Given the description of an element on the screen output the (x, y) to click on. 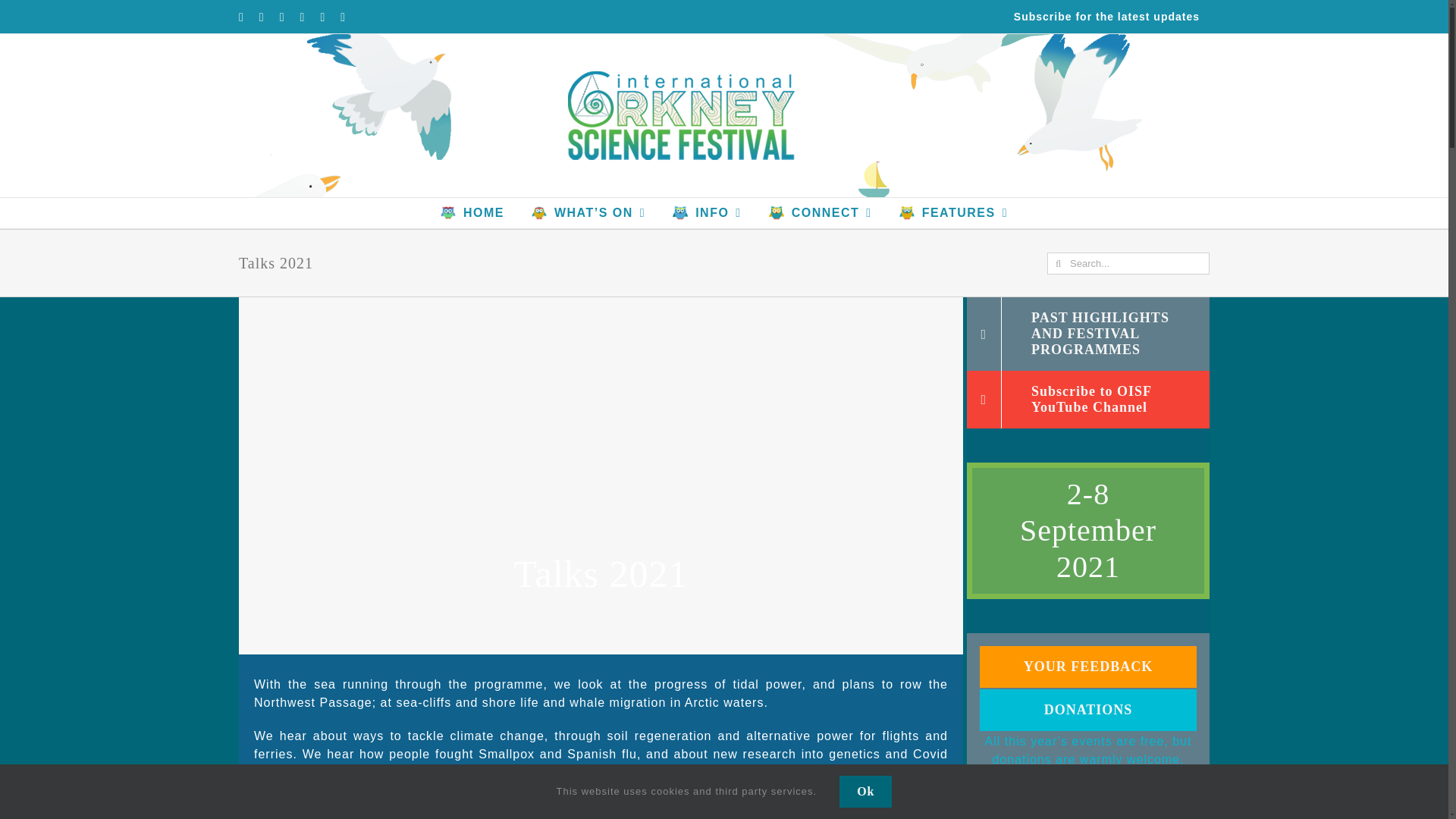
INFO (707, 213)
Subscribe for the latest updates (1106, 16)
HOME (472, 213)
